Given the description of an element on the screen output the (x, y) to click on. 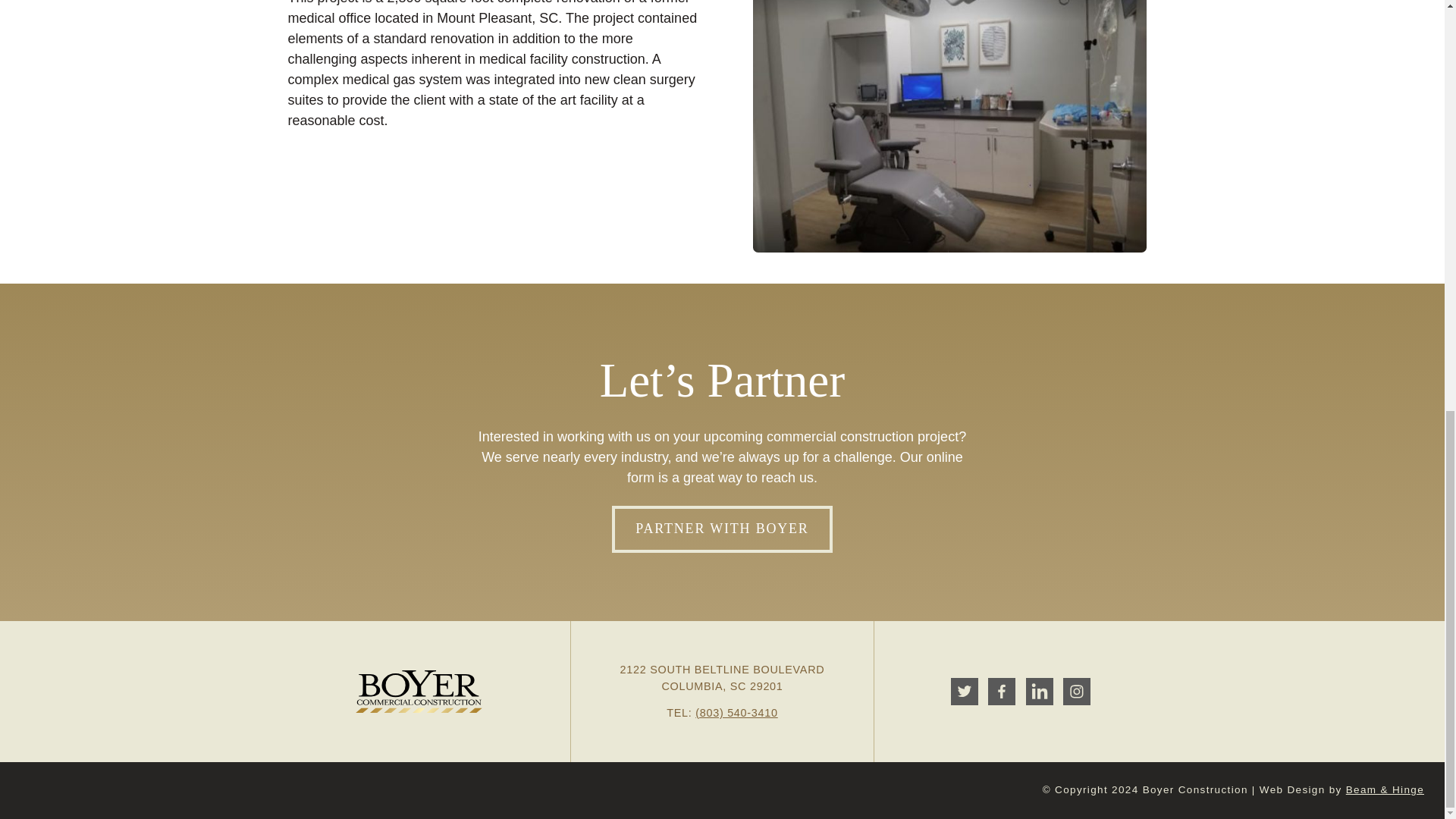
PARTNER WITH BOYER (721, 528)
instagram-icon (1076, 691)
instagram-icon (1076, 691)
Boyer Construction (419, 691)
